Given the description of an element on the screen output the (x, y) to click on. 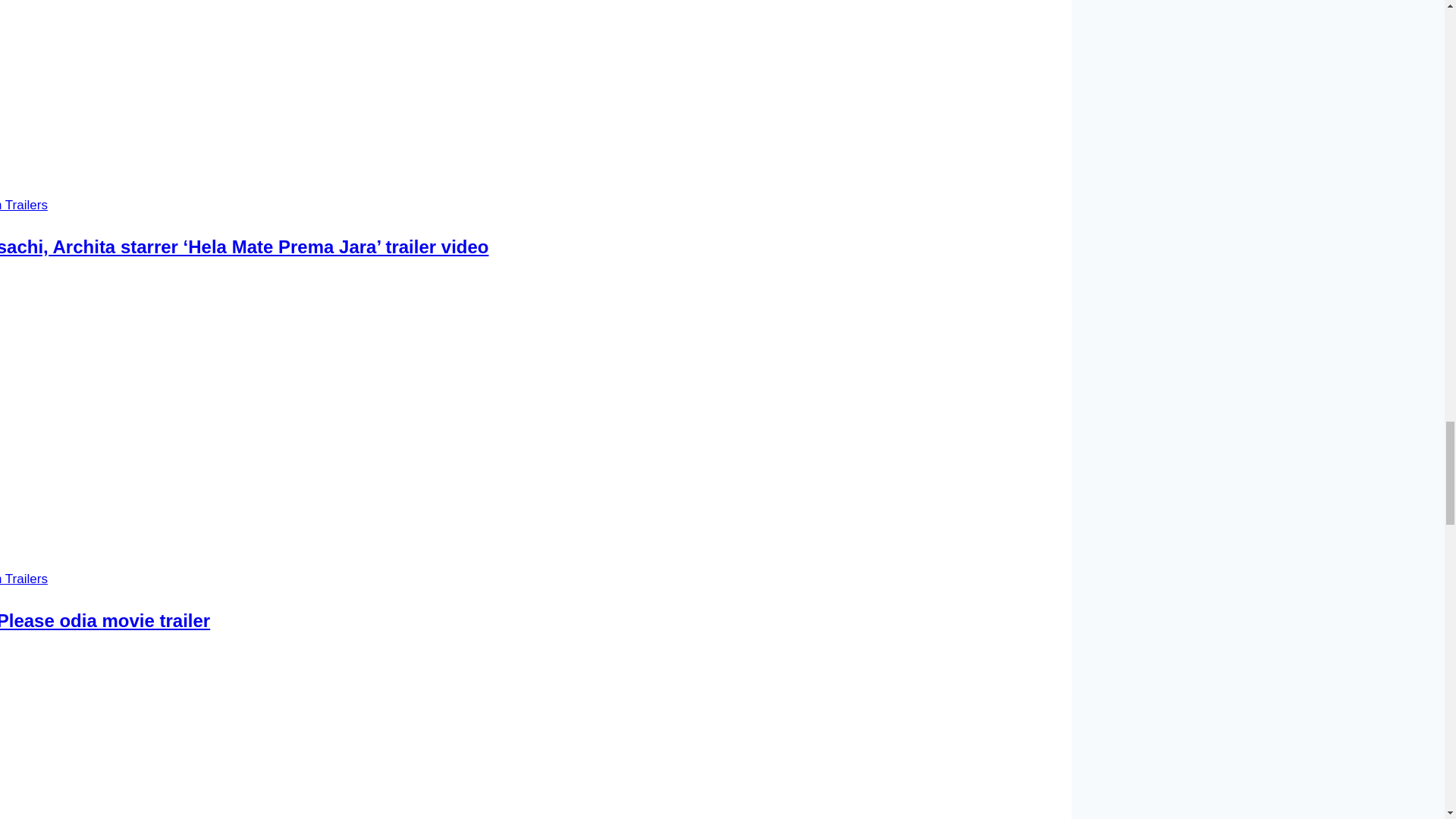
Smile Please odia movie trailer (104, 620)
Oriya Film Trailers (24, 205)
Oriya Film Trailers (24, 578)
